Given the description of an element on the screen output the (x, y) to click on. 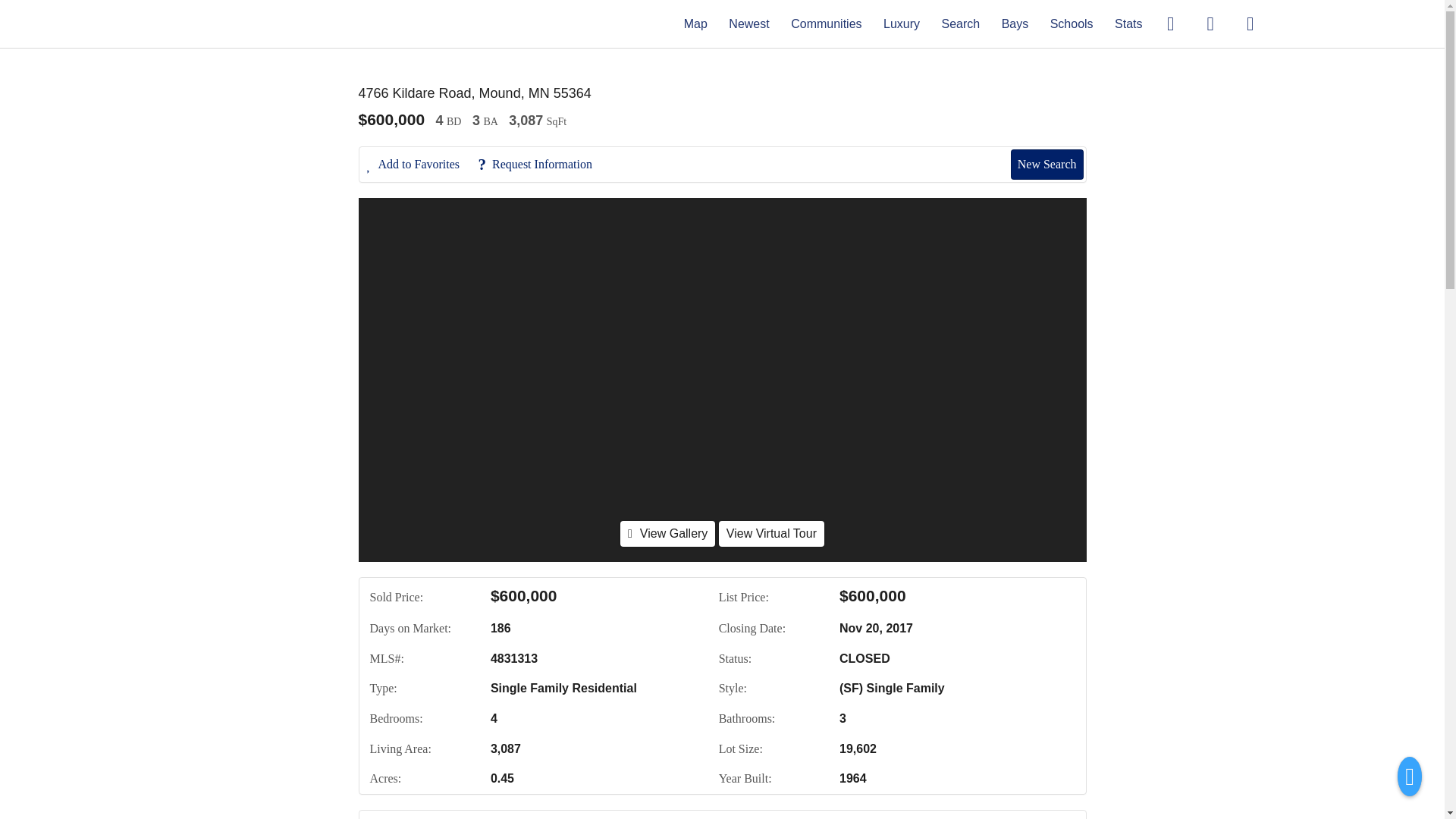
New Search (1046, 164)
New Search (1040, 817)
Newest (748, 23)
Stats (1128, 23)
Contact Us (407, 817)
Map (695, 23)
Search (959, 23)
View Gallery (667, 533)
Call Us (483, 817)
Add to Favorites (421, 164)
Communities (825, 23)
View Gallery (667, 533)
View on Map (564, 817)
View Virtual Tour (771, 533)
Schools (1071, 23)
